Given the description of an element on the screen output the (x, y) to click on. 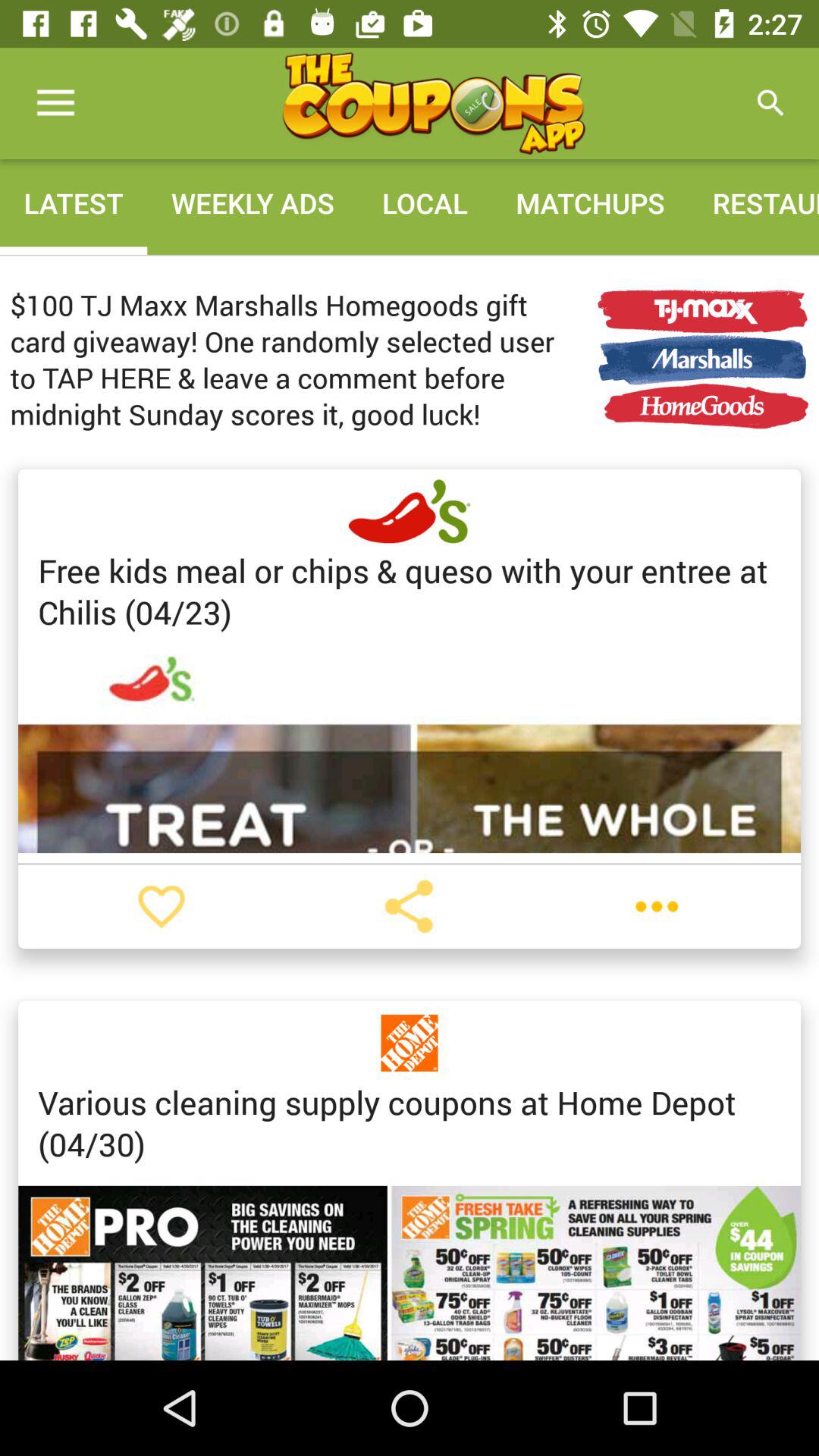
love coupon (161, 906)
